Given the description of an element on the screen output the (x, y) to click on. 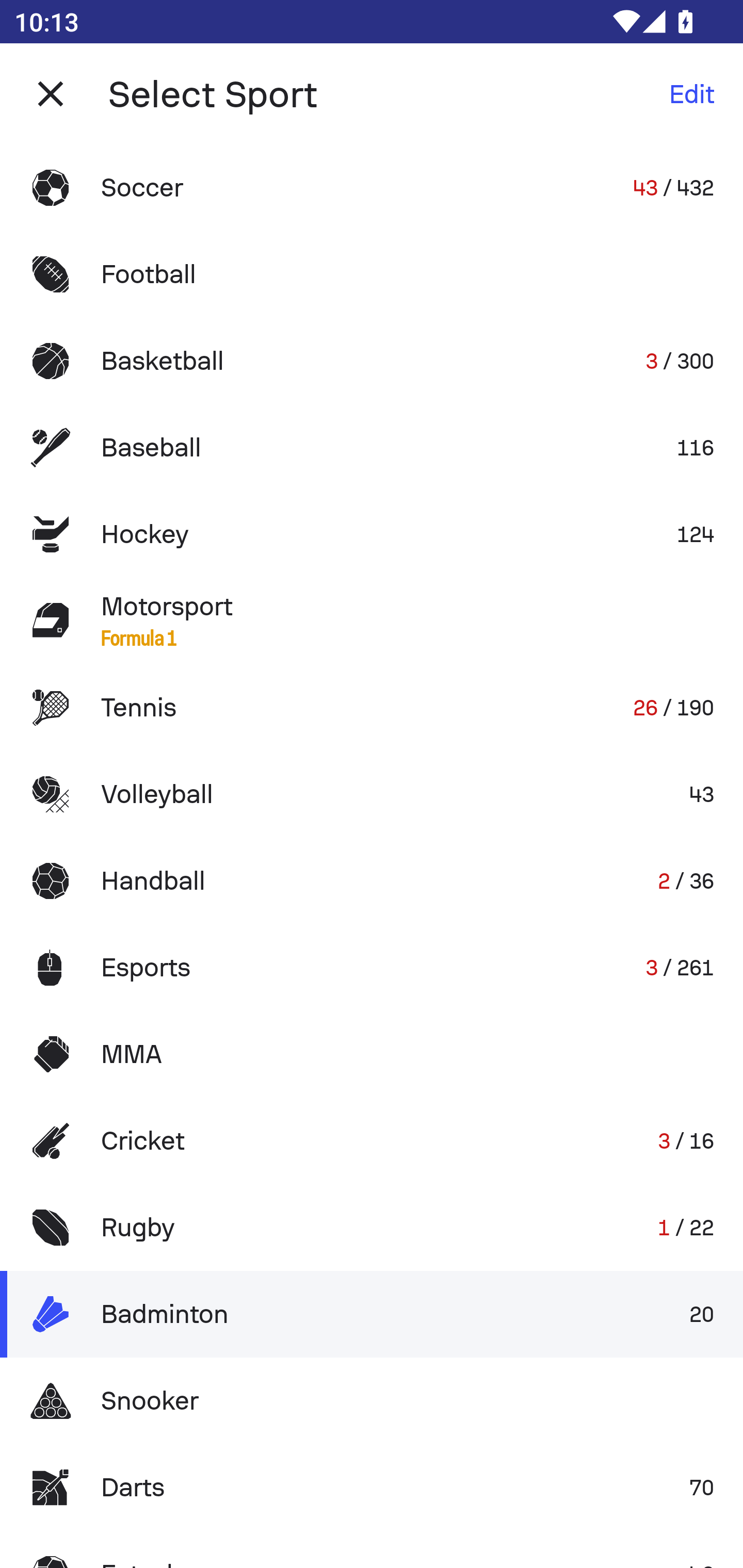
Edit (691, 93)
Soccer 43 / 432 (371, 187)
Football (371, 274)
Basketball 3 / 300 (371, 361)
Baseball 116 (371, 447)
Hockey 124 (371, 533)
Motorsport Formula 1 (371, 620)
Tennis 26 / 190 (371, 707)
Volleyball 43 (371, 794)
Handball 2 / 36 (371, 880)
Esports 3 / 261 (371, 967)
MMA (371, 1054)
Cricket 3 / 16 (371, 1140)
Rugby 1 / 22 (371, 1227)
Badminton 20 (371, 1314)
Snooker (371, 1400)
Darts 70 (371, 1487)
